Given the description of an element on the screen output the (x, y) to click on. 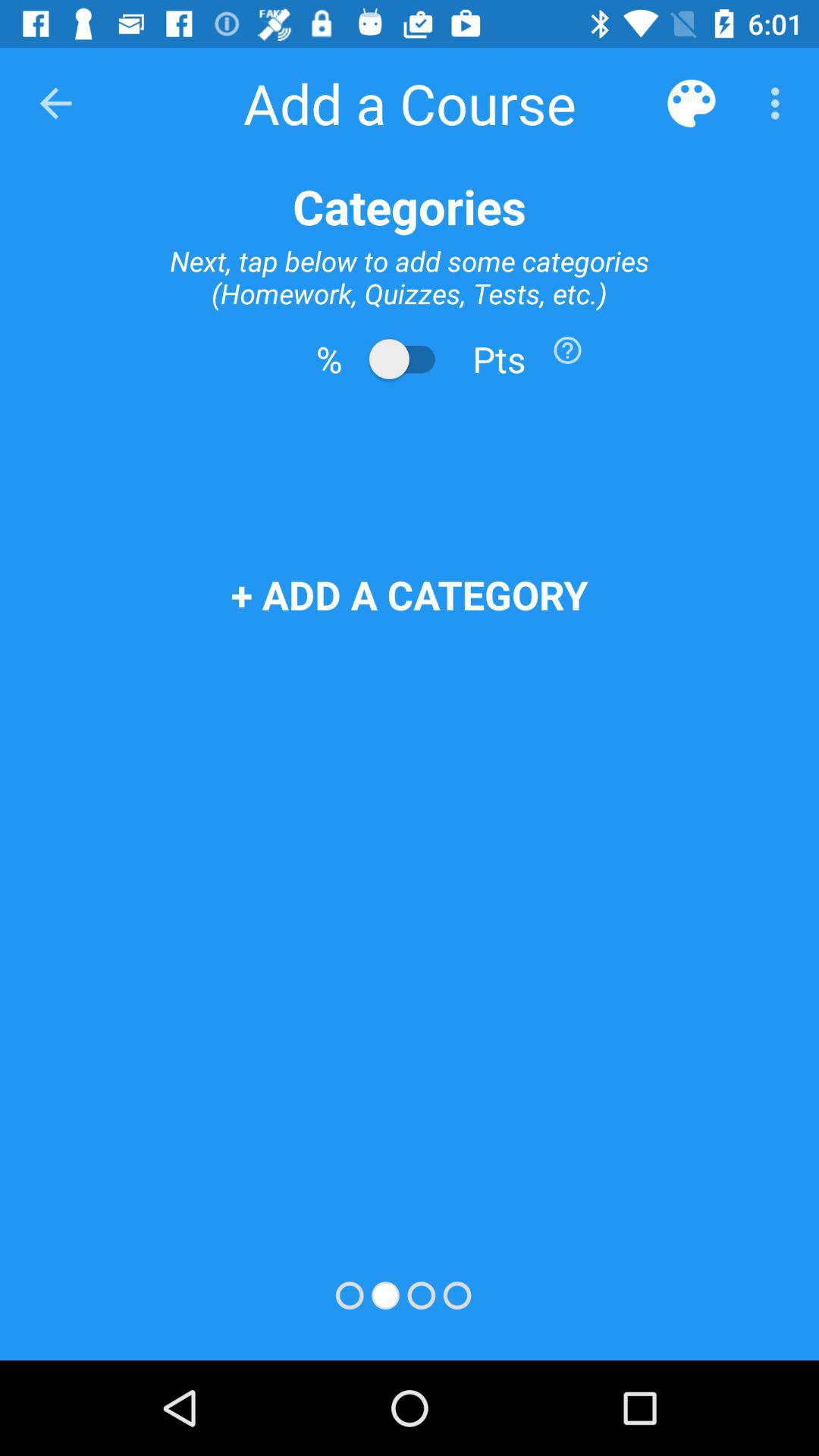
open item above the categories (691, 103)
